Given the description of an element on the screen output the (x, y) to click on. 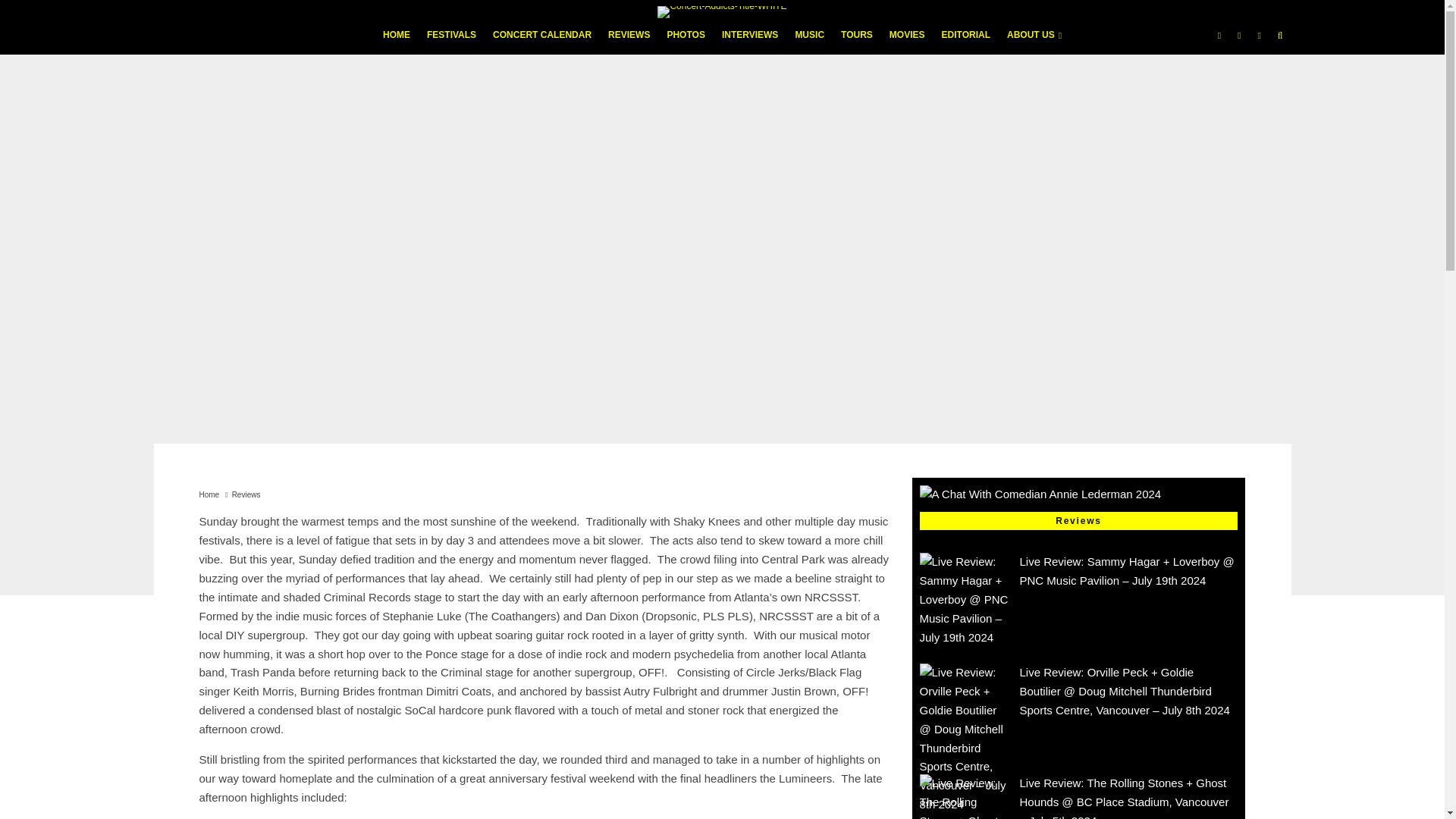
CONCERT CALENDAR (541, 39)
INTERVIEWS (749, 39)
HOME (396, 39)
PHOTOS (685, 39)
FESTIVALS (451, 39)
REVIEWS (628, 39)
